Given the description of an element on the screen output the (x, y) to click on. 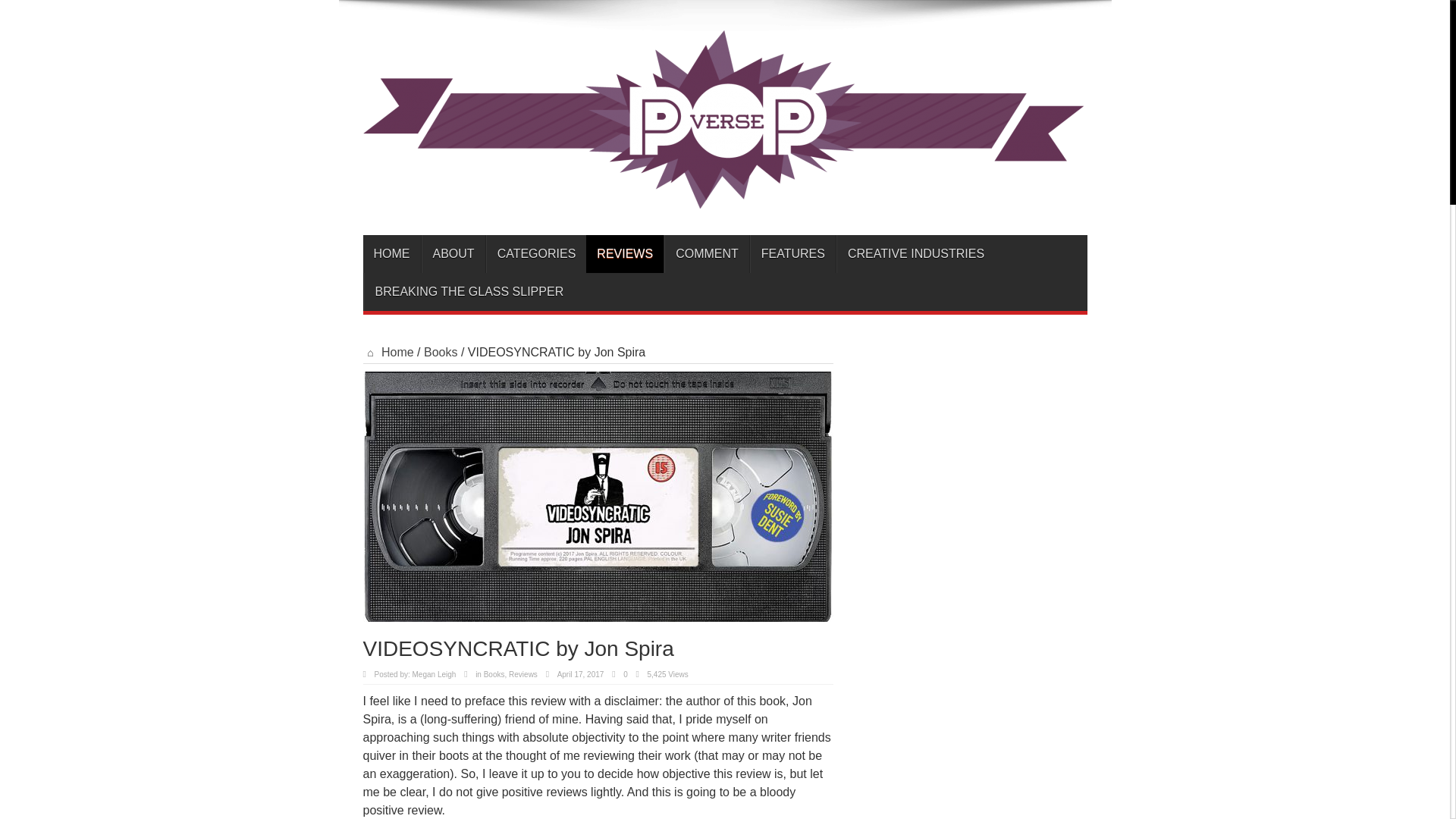
Books (440, 351)
REVIEWS (624, 253)
BREAKING THE GLASS SLIPPER (469, 291)
CREATIVE INDUSTRIES (914, 253)
CATEGORIES (536, 253)
ABOUT (453, 253)
FEATURES (792, 253)
HOME (391, 253)
Pop Verse (722, 197)
Megan Leigh (434, 674)
